Given the description of an element on the screen output the (x, y) to click on. 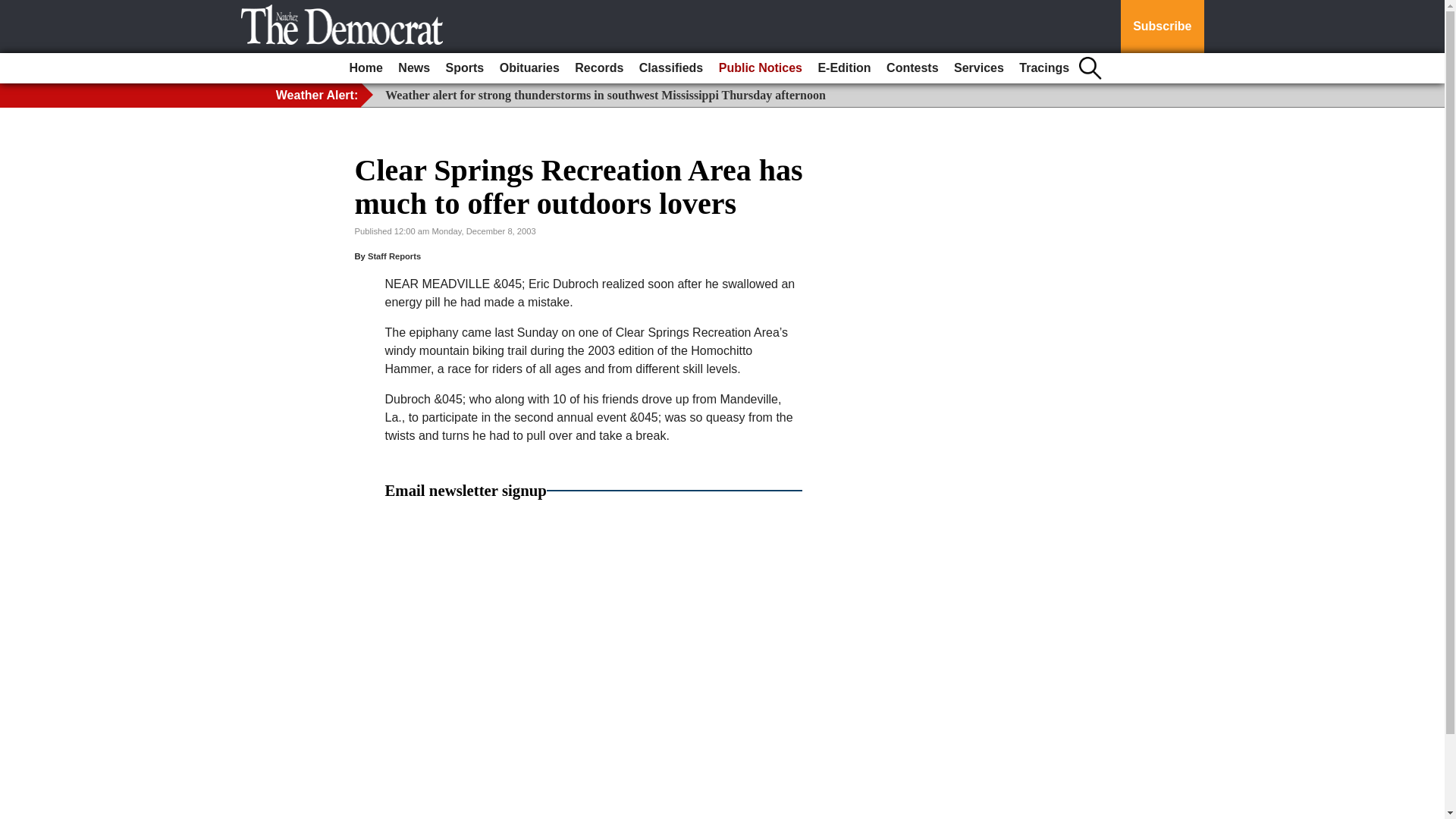
Public Notices (760, 68)
E-Edition (843, 68)
Obituaries (529, 68)
Home (365, 68)
Contests (911, 68)
News (413, 68)
Tracings (1044, 68)
Classifieds (671, 68)
